Given the description of an element on the screen output the (x, y) to click on. 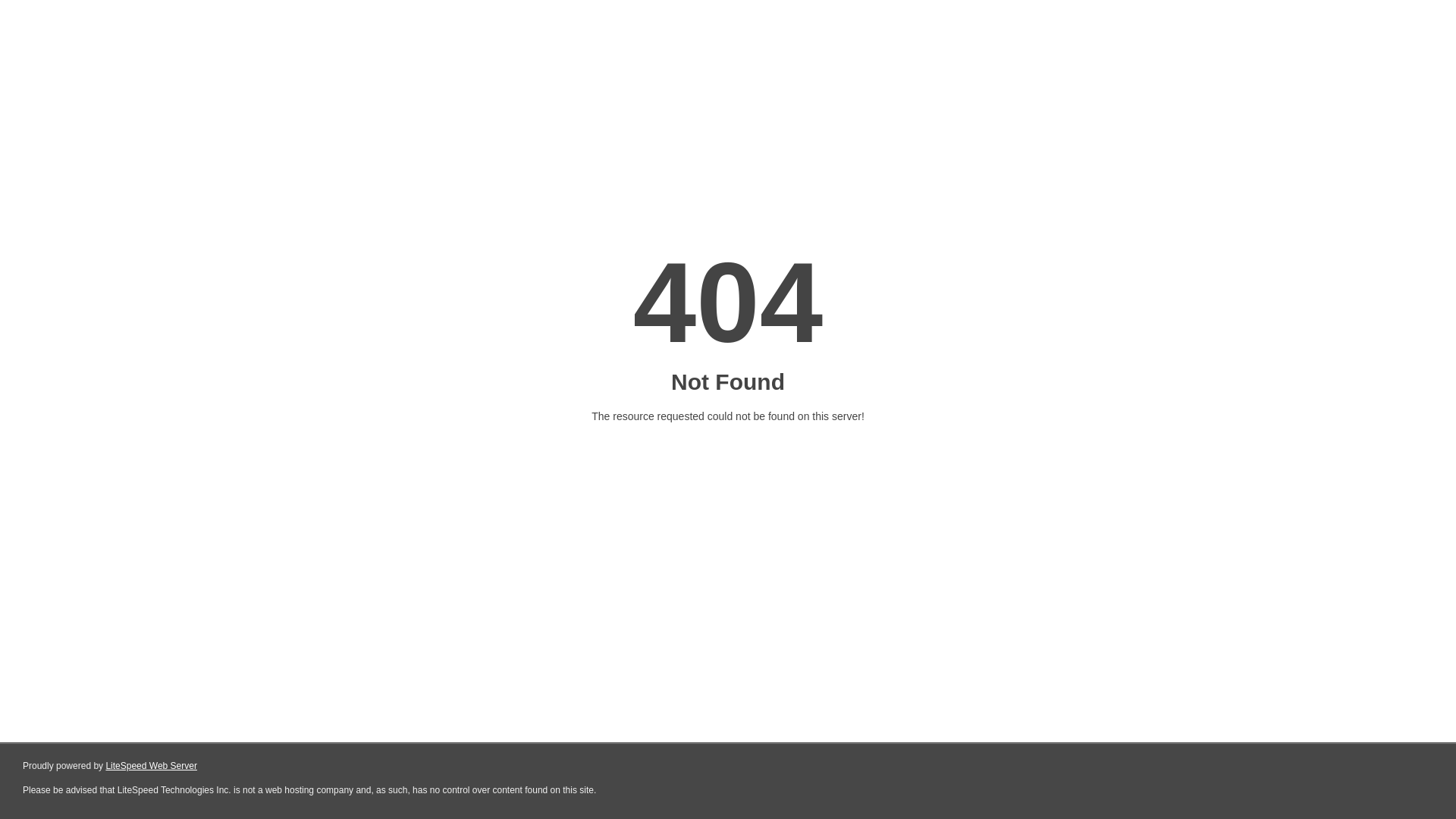
LiteSpeed Web Server Element type: text (151, 765)
